Given the description of an element on the screen output the (x, y) to click on. 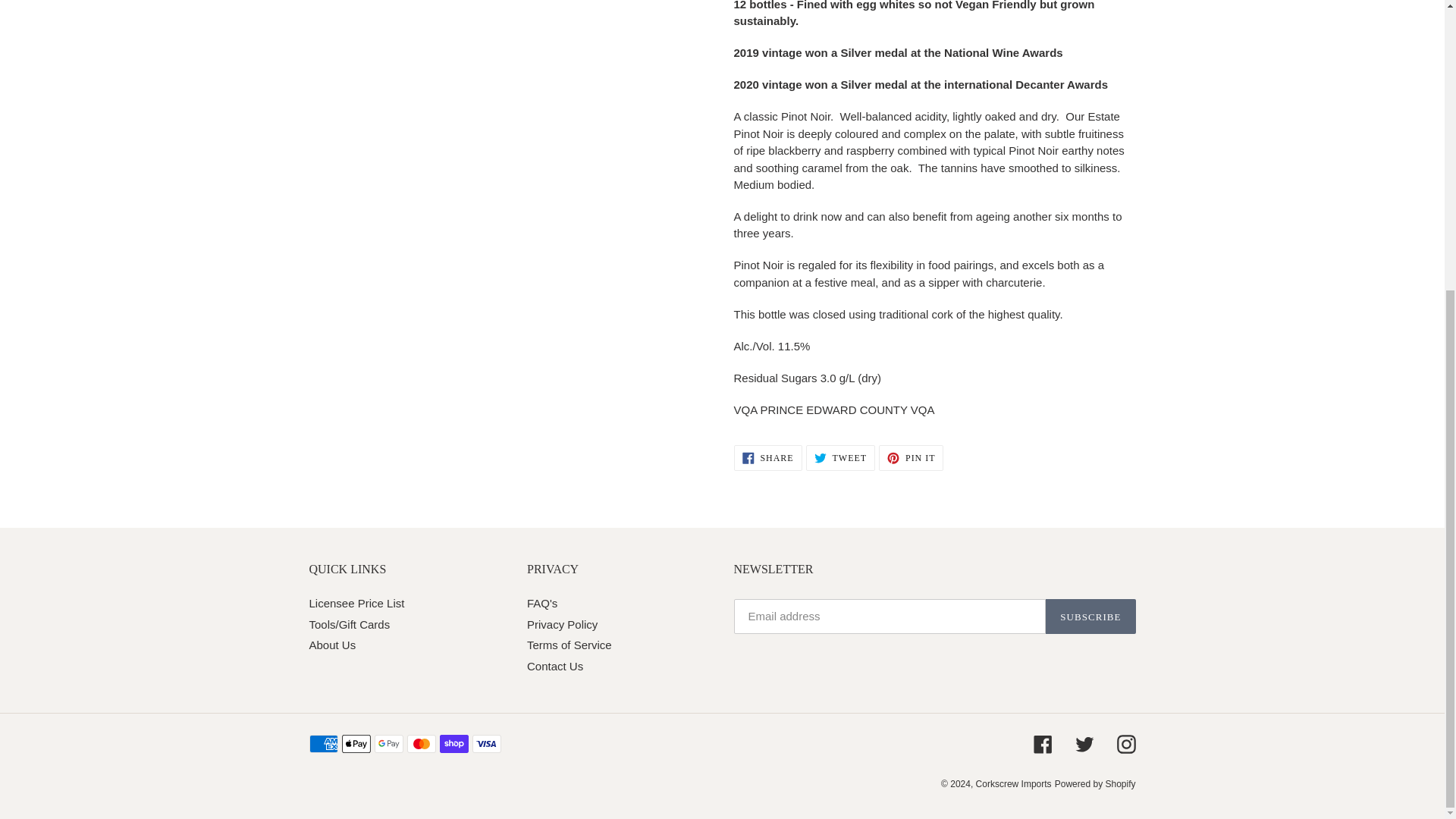
SUBSCRIBE (1090, 615)
Twitter (1084, 743)
Instagram (1125, 743)
About Us (332, 644)
Corkscrew Imports (1013, 783)
Facebook (767, 457)
Privacy Policy (840, 457)
